Given the description of an element on the screen output the (x, y) to click on. 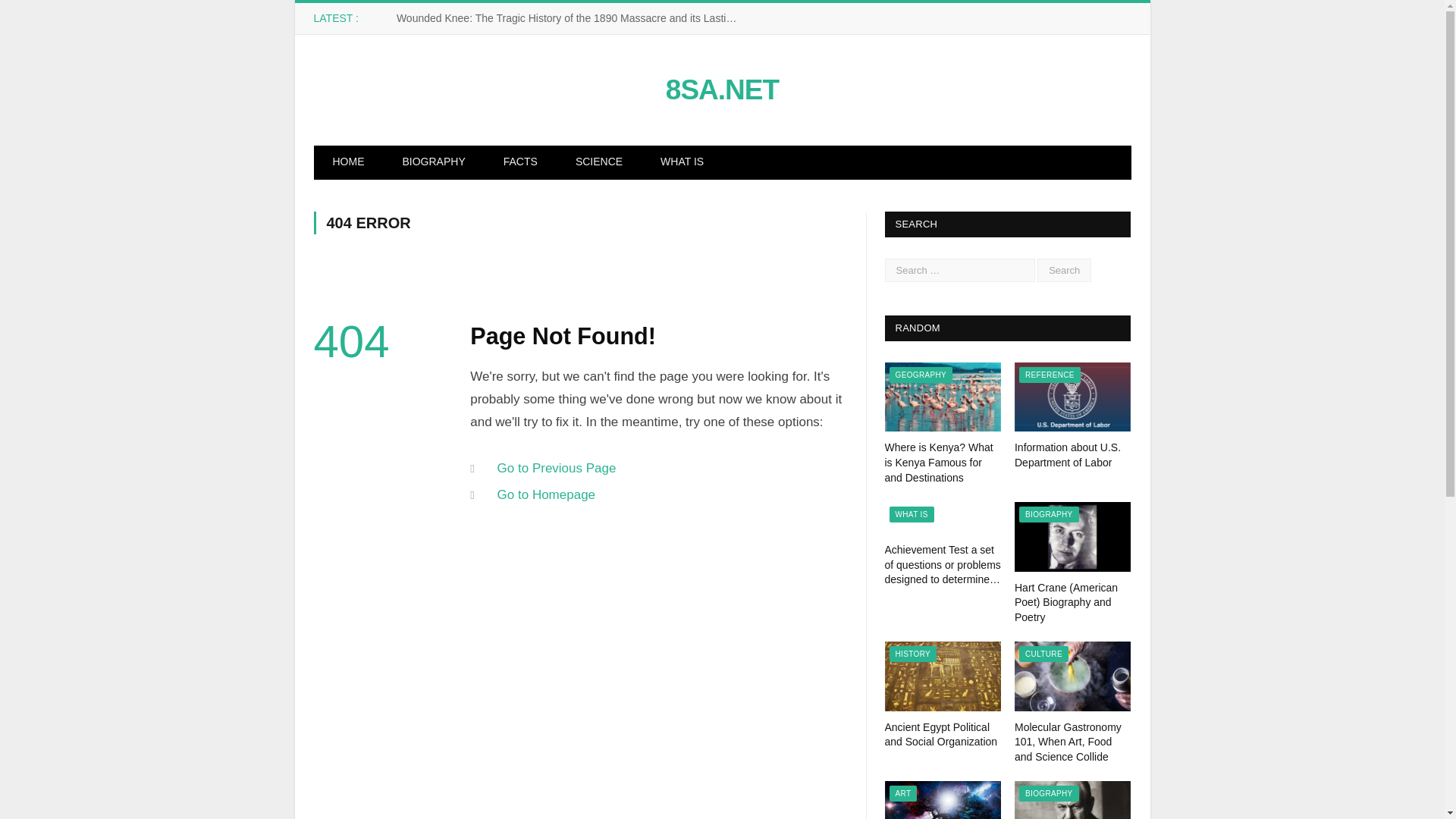
REFERENCE (1049, 375)
Search (1063, 269)
GEOGRAPHY (920, 375)
Information about U.S. Department of Labor (1067, 454)
SCIENCE (599, 162)
Go to Homepage (546, 494)
WHAT IS (911, 514)
Search (1063, 269)
FACTS (520, 162)
BIOGRAPHY (434, 162)
8SA.NET (721, 89)
Where is Kenya? What is Kenya Famous for and Destinations (941, 396)
Information about U.S. Department of Labor (1072, 396)
